Given the description of an element on the screen output the (x, y) to click on. 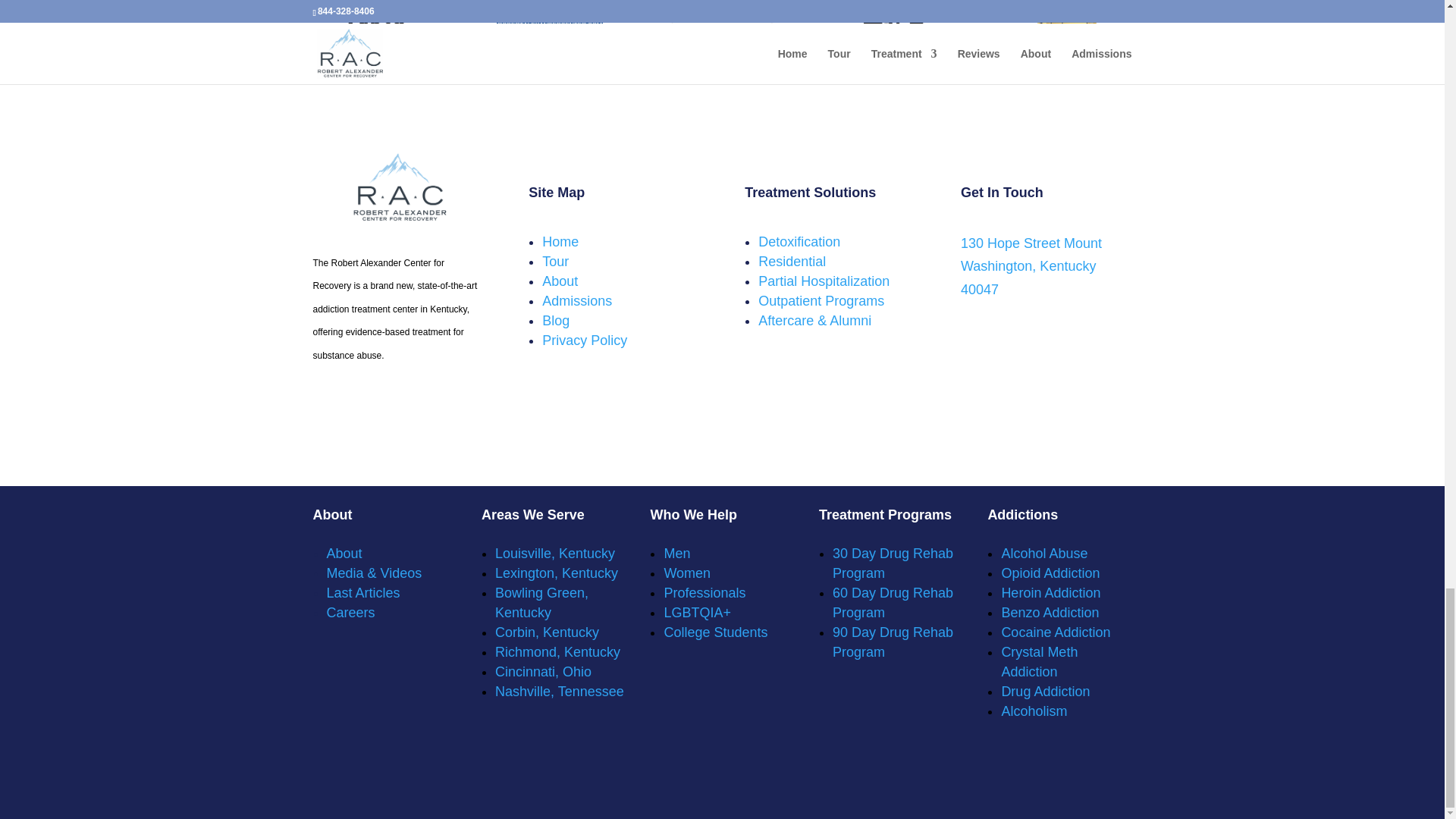
Robert Alexander Center for Recovery (721, 36)
rac-interpreter (895, 29)
jcaho-new (1066, 22)
Verify LegitScript Approval (549, 68)
cropped-Iwn-square-logo (375, 31)
